Given the description of an element on the screen output the (x, y) to click on. 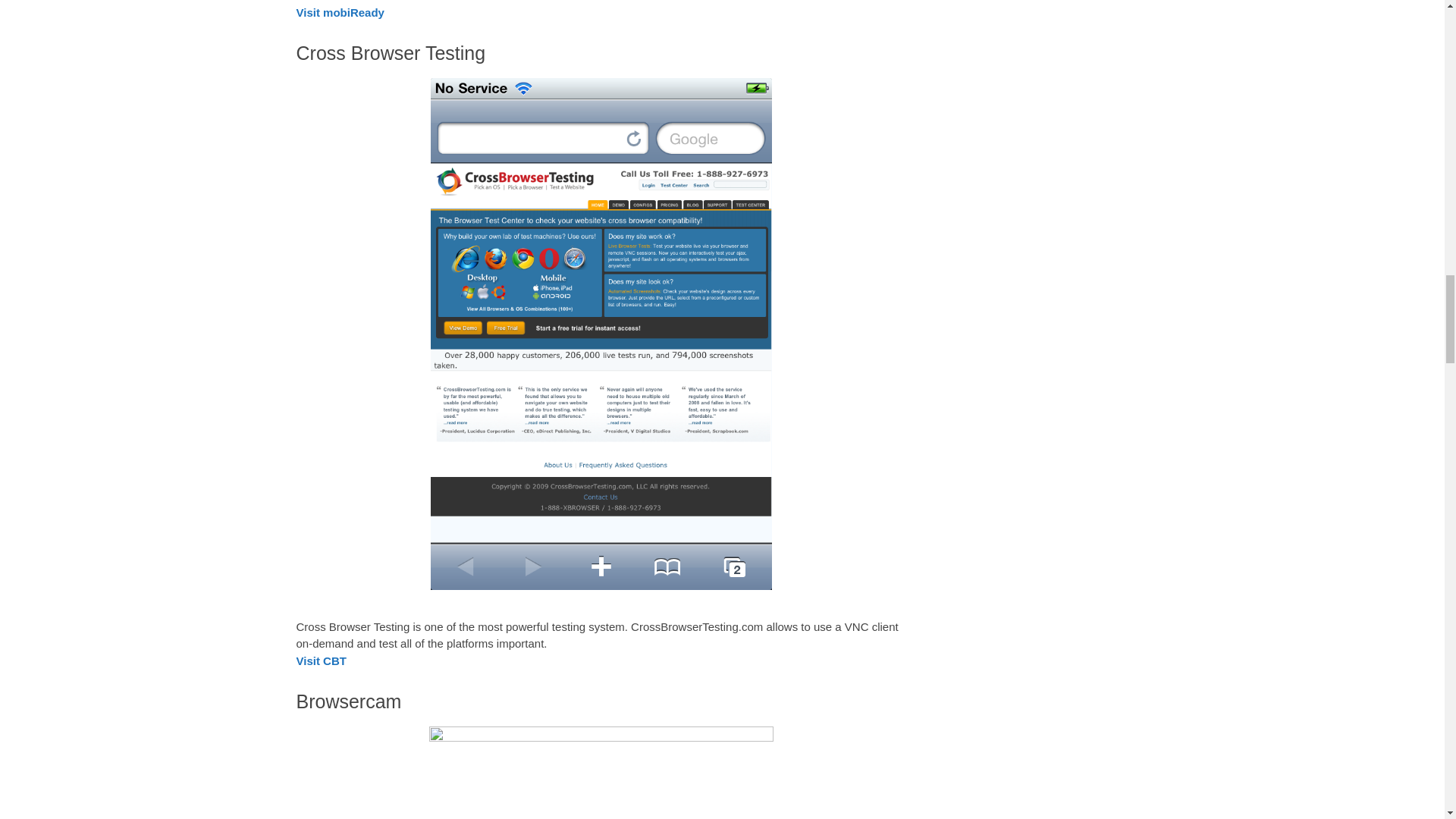
Visit CBT (320, 660)
Visit mobiReady (339, 11)
5.website mobile device testing tool (601, 772)
